Given the description of an element on the screen output the (x, y) to click on. 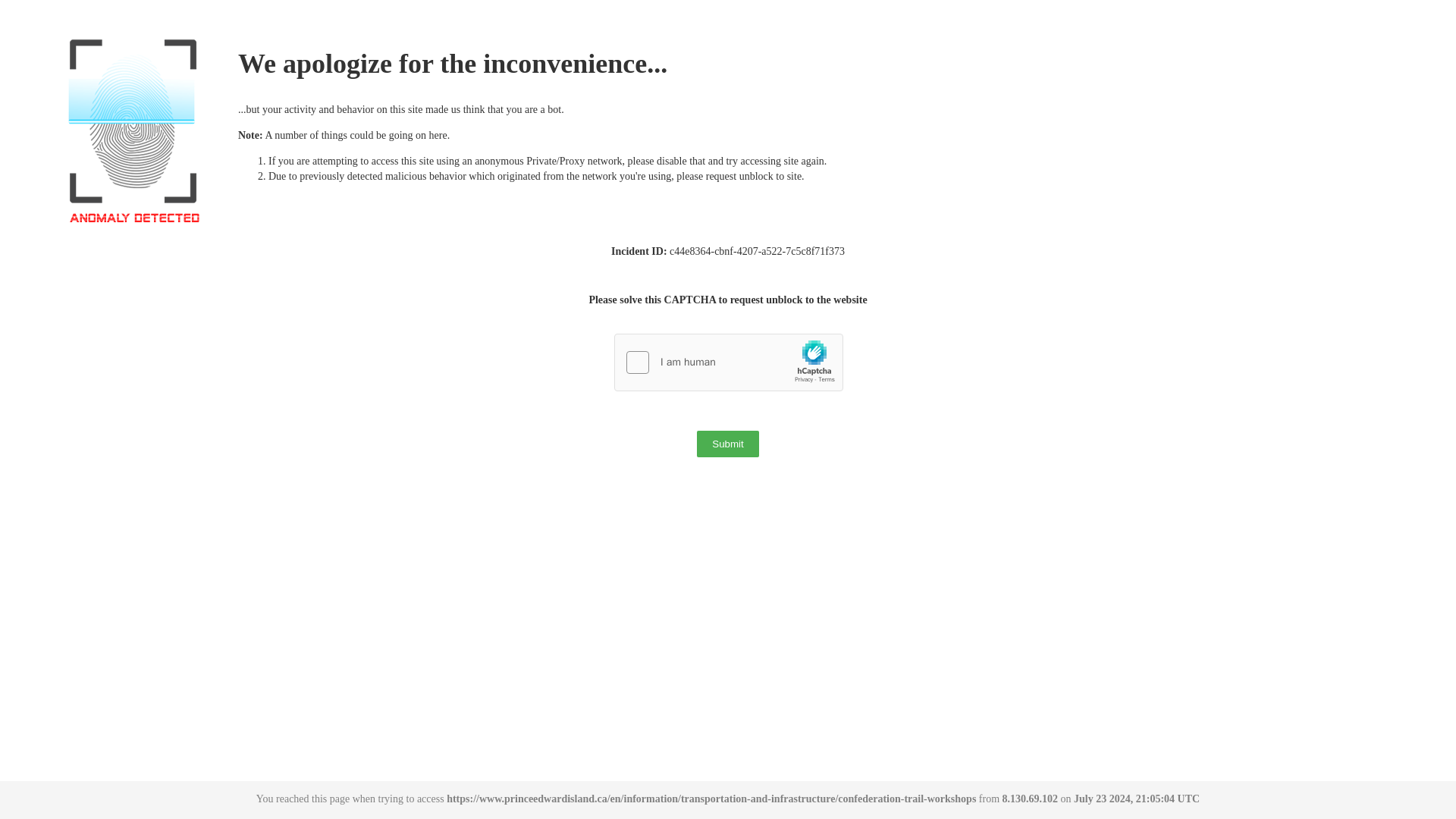
Submit (727, 443)
Submit (727, 443)
Widget containing checkbox for hCaptcha security challenge (729, 363)
